Given the description of an element on the screen output the (x, y) to click on. 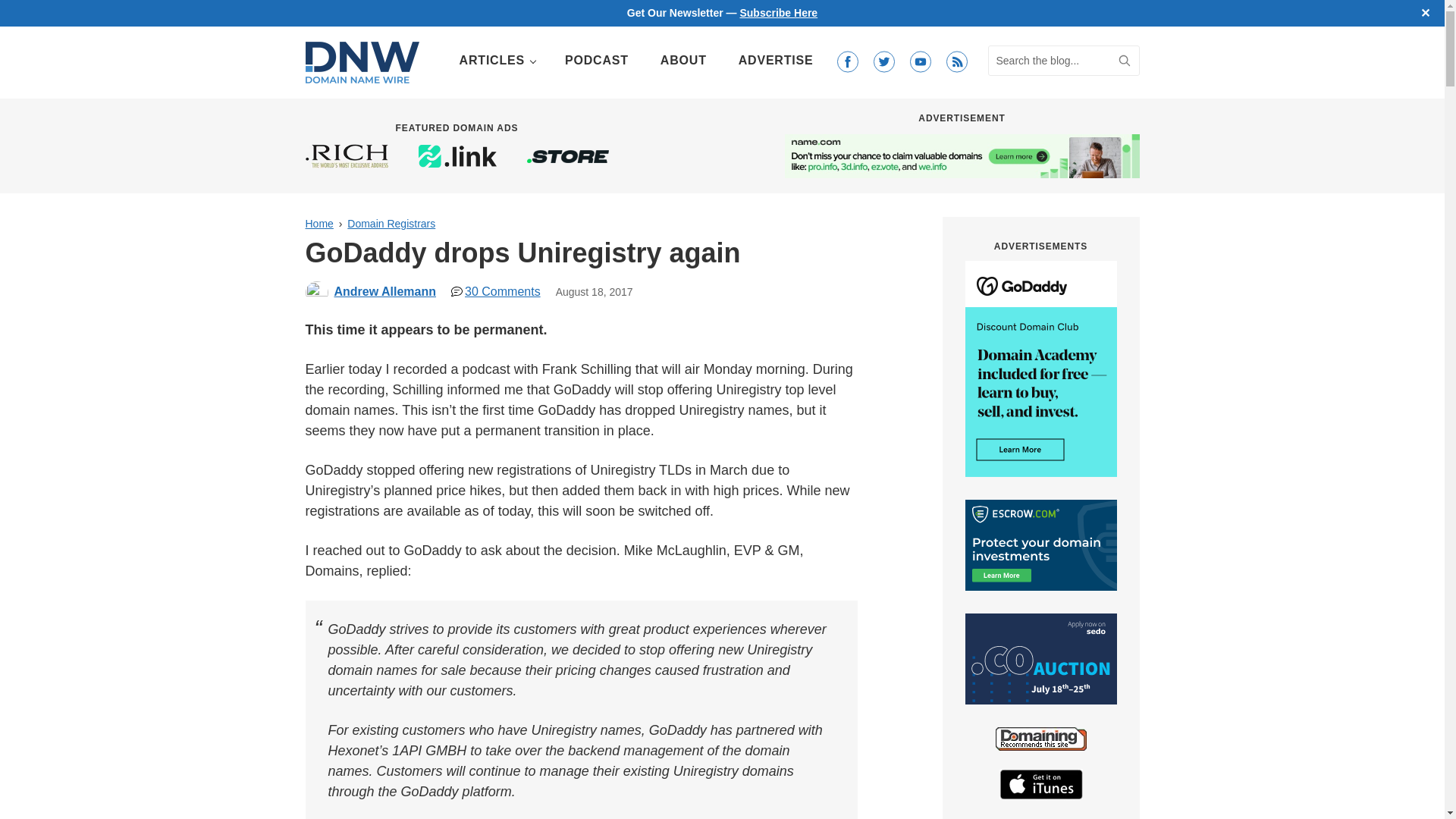
Submit search (1123, 60)
Submit search (1123, 60)
ABOUT (683, 60)
YouTube (919, 62)
Subscribe Here (777, 12)
Andrew Allemann (384, 291)
RSS Feed (956, 62)
Domain Registrars (391, 223)
Submit search (1123, 60)
ARTICLES (495, 60)
Facebook (846, 62)
Twitter (883, 62)
30 Comments (495, 291)
Home (318, 223)
